Given the description of an element on the screen output the (x, y) to click on. 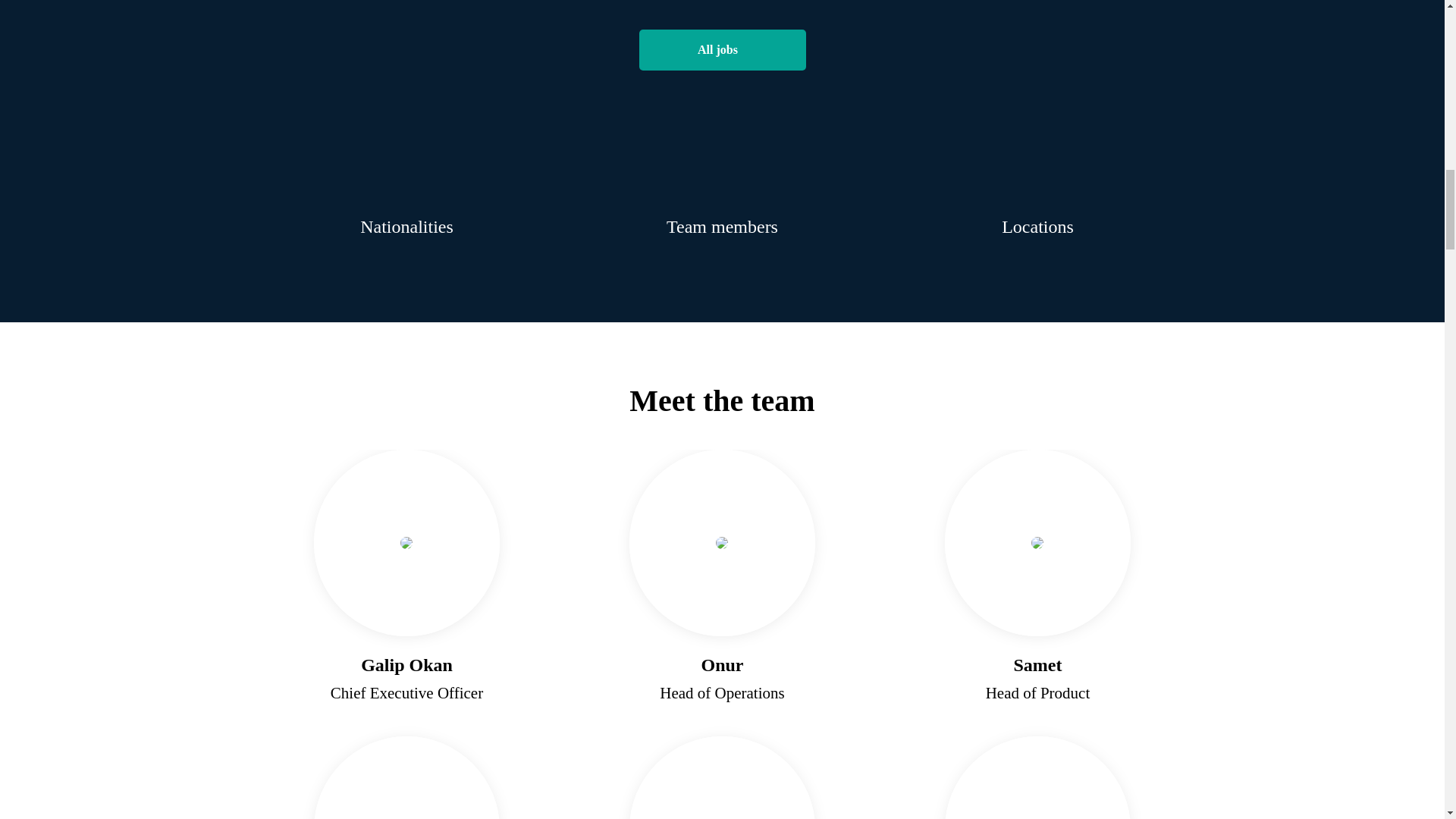
All jobs (722, 48)
